Given the description of an element on the screen output the (x, y) to click on. 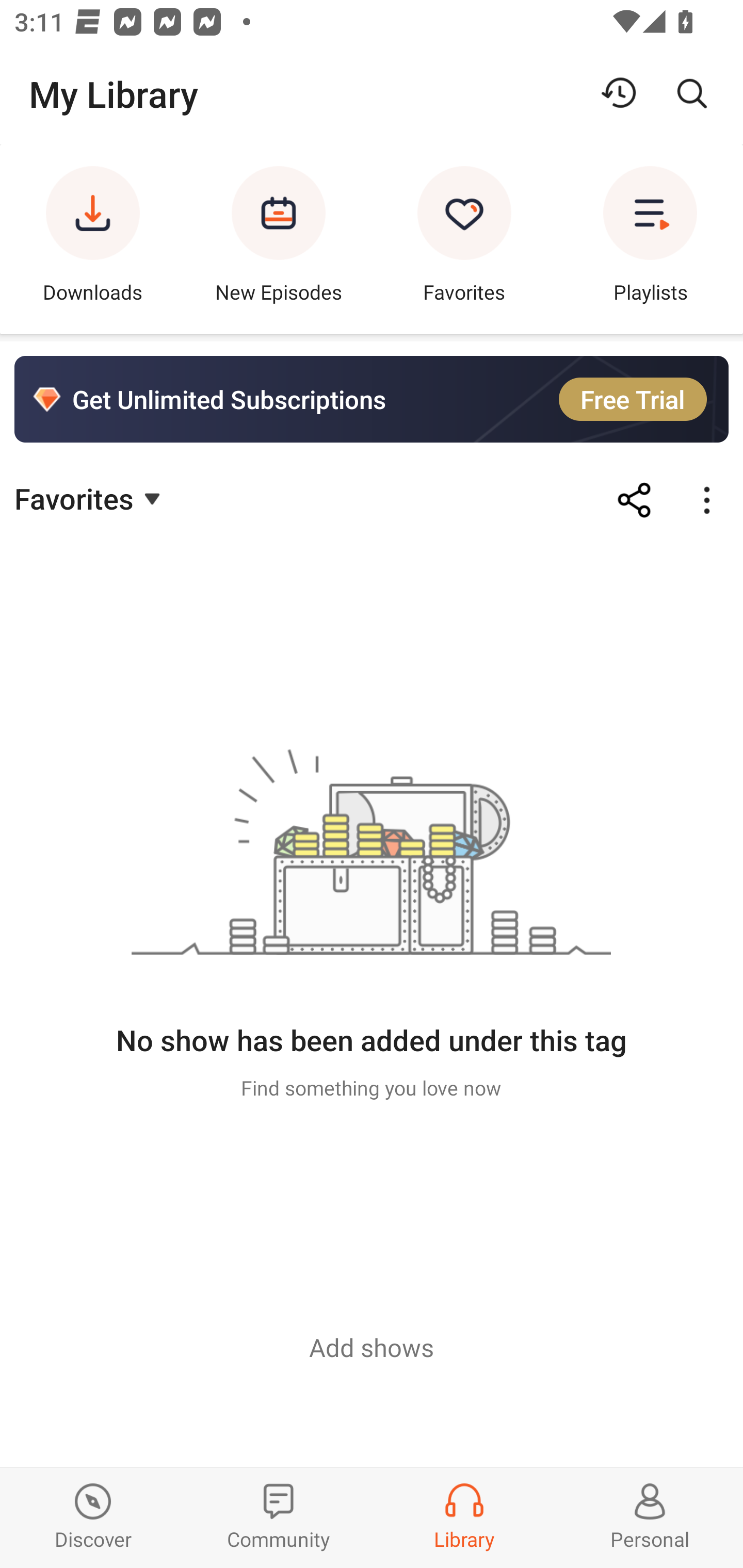
Downloads (92, 238)
New Episodes (278, 238)
Favorites (464, 238)
Playlists (650, 238)
Get Unlimited Subscriptions Free Trial (371, 398)
Free Trial (632, 398)
Favorites (90, 497)
Add shows (371, 1346)
Discover (92, 1517)
Community (278, 1517)
Library (464, 1517)
Profiles and Settings Personal (650, 1517)
